Given the description of an element on the screen output the (x, y) to click on. 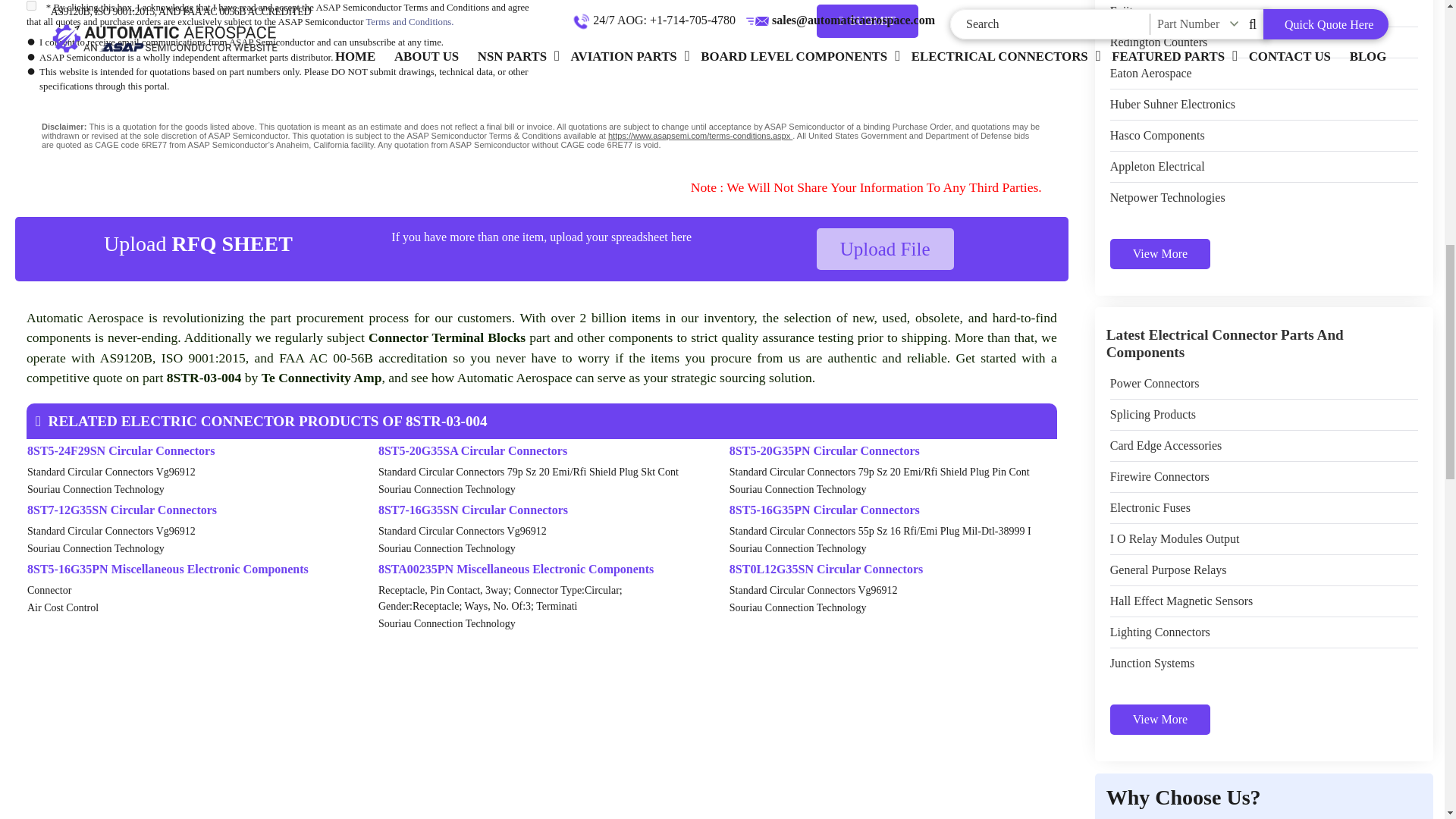
Netpower Technologies (1167, 198)
Power Connectors (1154, 383)
Huber Suhner Electronics (1171, 104)
Lighting Connectors (1159, 632)
Appleton Electrical (1157, 167)
General Purpose Relays (1168, 570)
Redington Counters (1158, 42)
Fujitsu (1125, 11)
RFQ disclaimer (541, 135)
Hasco Components (1157, 135)
